Given the description of an element on the screen output the (x, y) to click on. 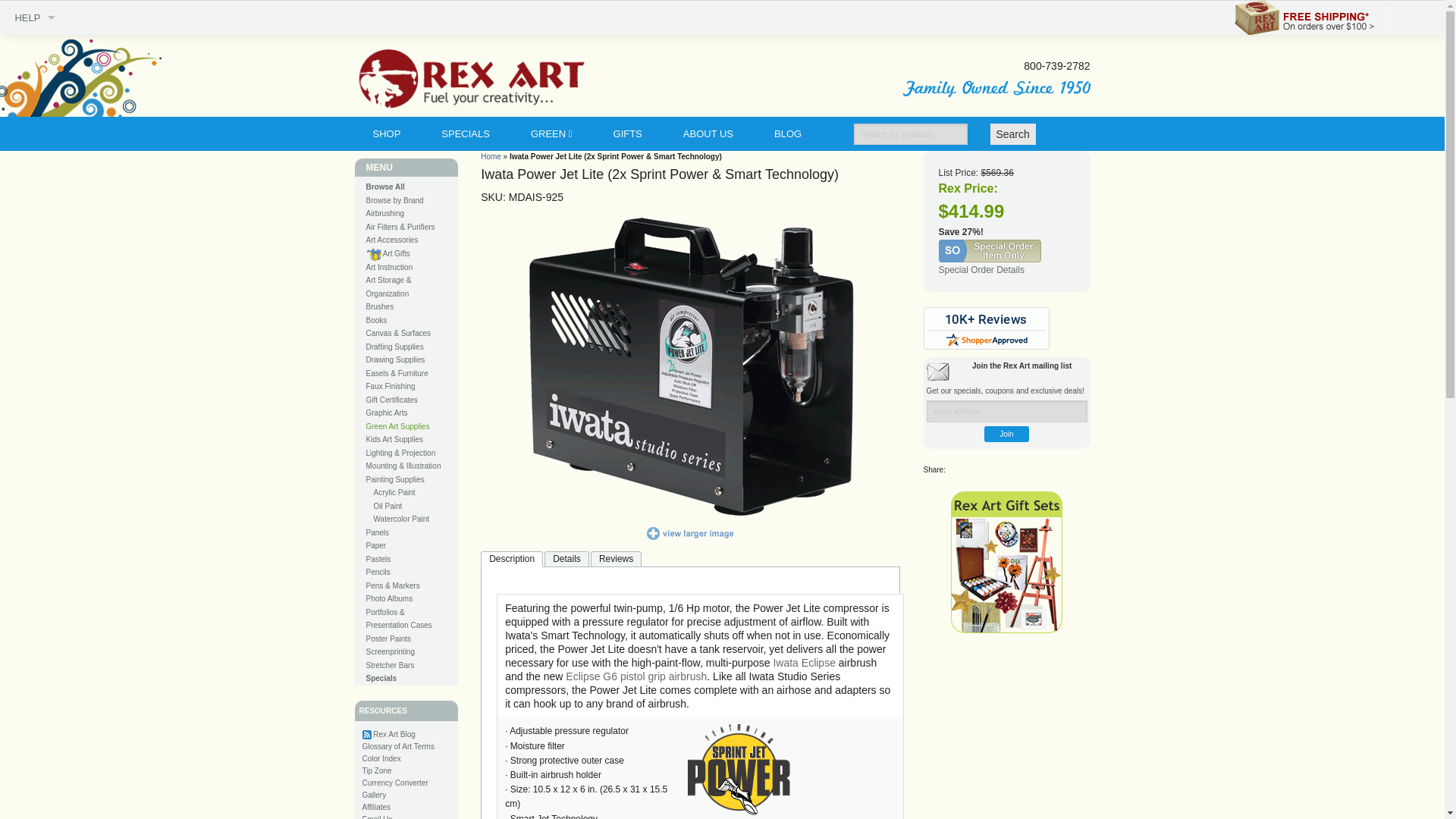
ABOUT US (716, 133)
www.rexart.com (690, 532)
SHOP (395, 133)
Gift Certificates (34, 120)
Shipping Information (34, 222)
Wishists (34, 154)
www.rexart.com (690, 366)
SPECIALS (474, 133)
International Customers (34, 256)
Account (34, 85)
